Given the description of an element on the screen output the (x, y) to click on. 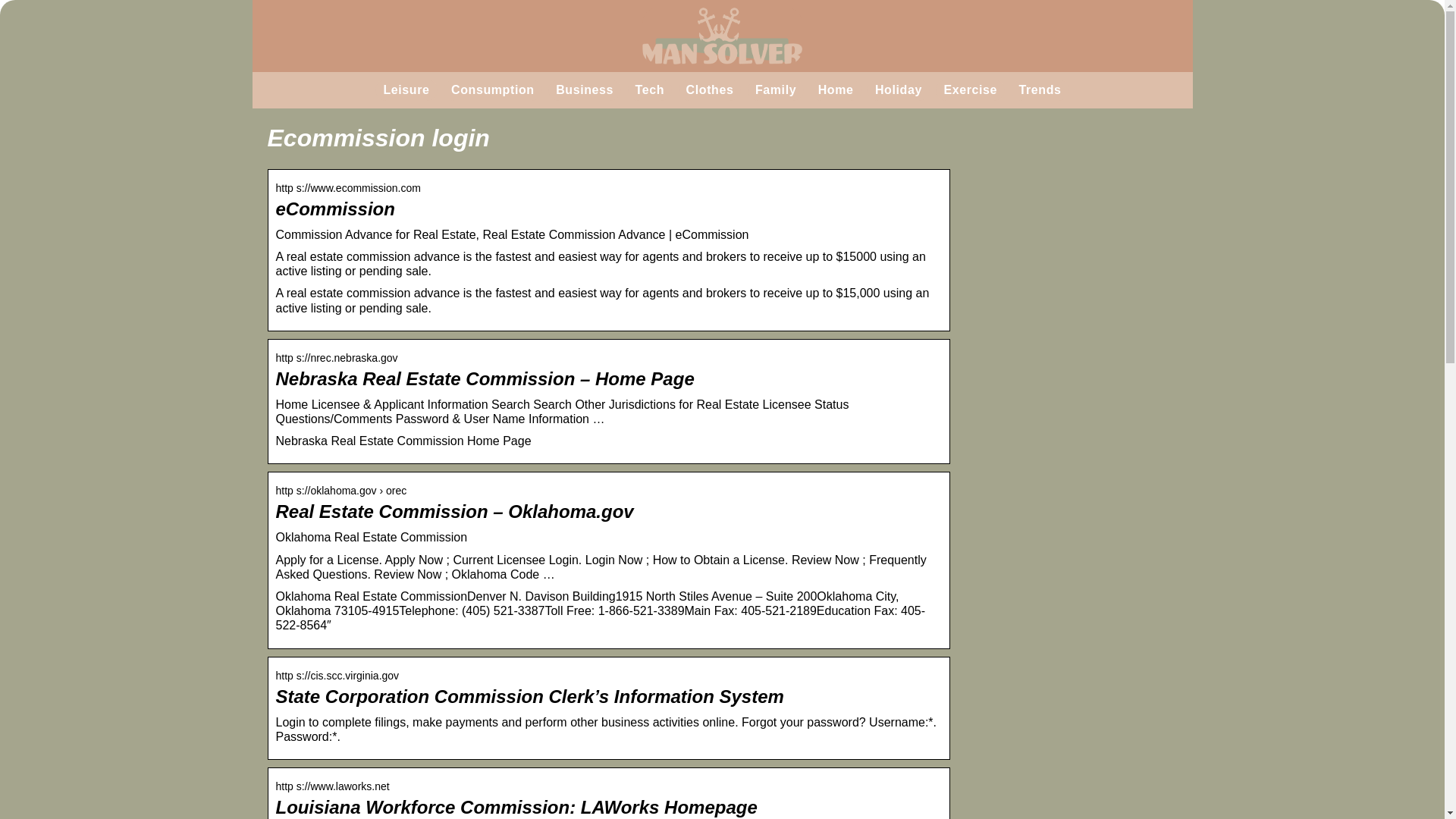
Family (775, 89)
Business (584, 89)
Trends (1040, 89)
Holiday (898, 89)
Clothes (709, 89)
Consumption (492, 89)
Home (835, 89)
Leisure (405, 89)
Exercise (970, 89)
Tech (649, 89)
